Given the description of an element on the screen output the (x, y) to click on. 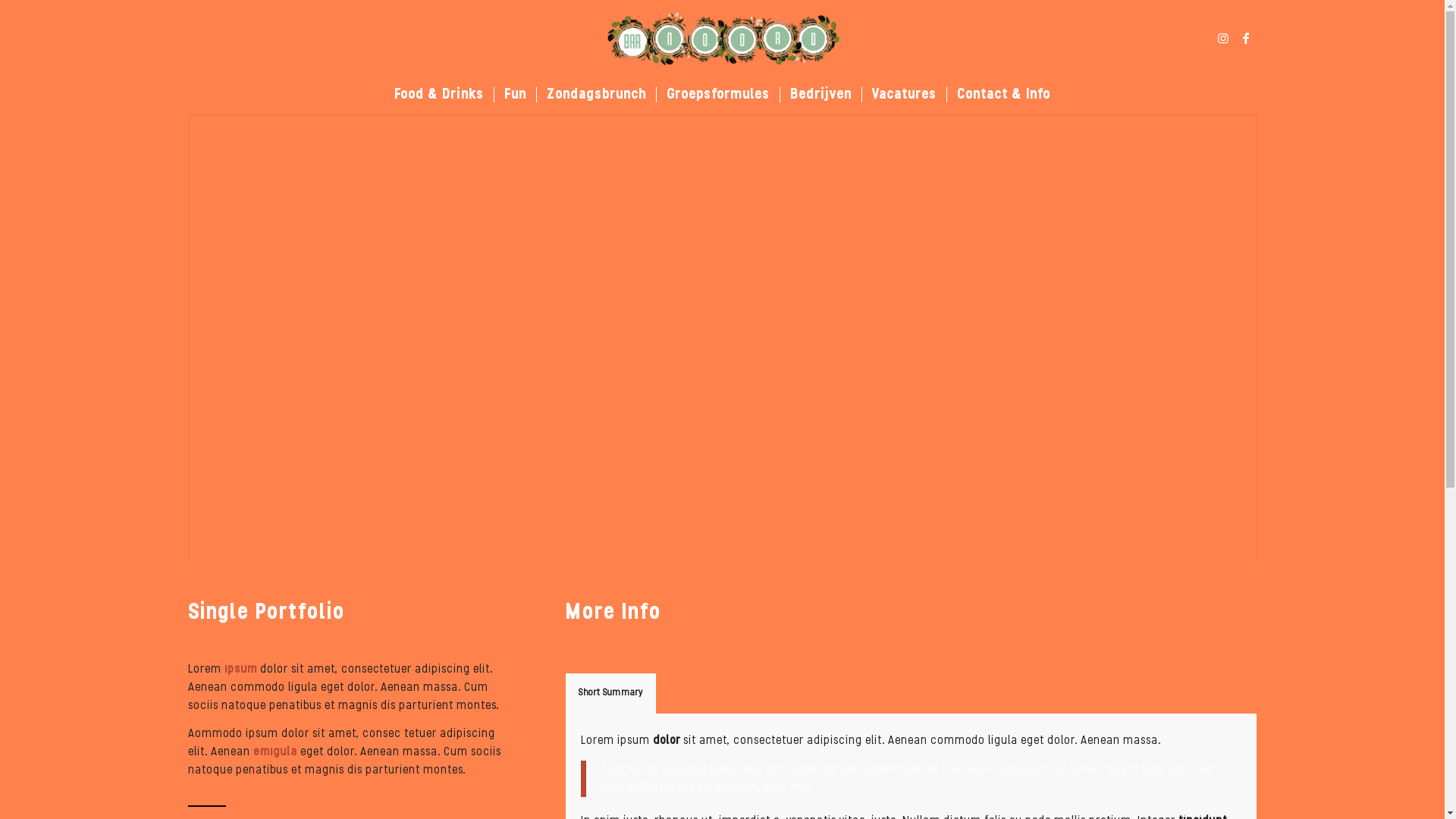
logo_BarNoord Element type: hover (721, 37)
Groepsformules Element type: text (717, 94)
Food & Drinks Element type: text (438, 94)
Instagram Element type: hover (1222, 37)
Facebook Element type: hover (1245, 37)
Zondagsbrunch Element type: text (595, 94)
Vacatures Element type: text (903, 94)
Fun Element type: text (514, 94)
Bedrijven Element type: text (820, 94)
Contact & Info Element type: text (1003, 94)
